Given the description of an element on the screen output the (x, y) to click on. 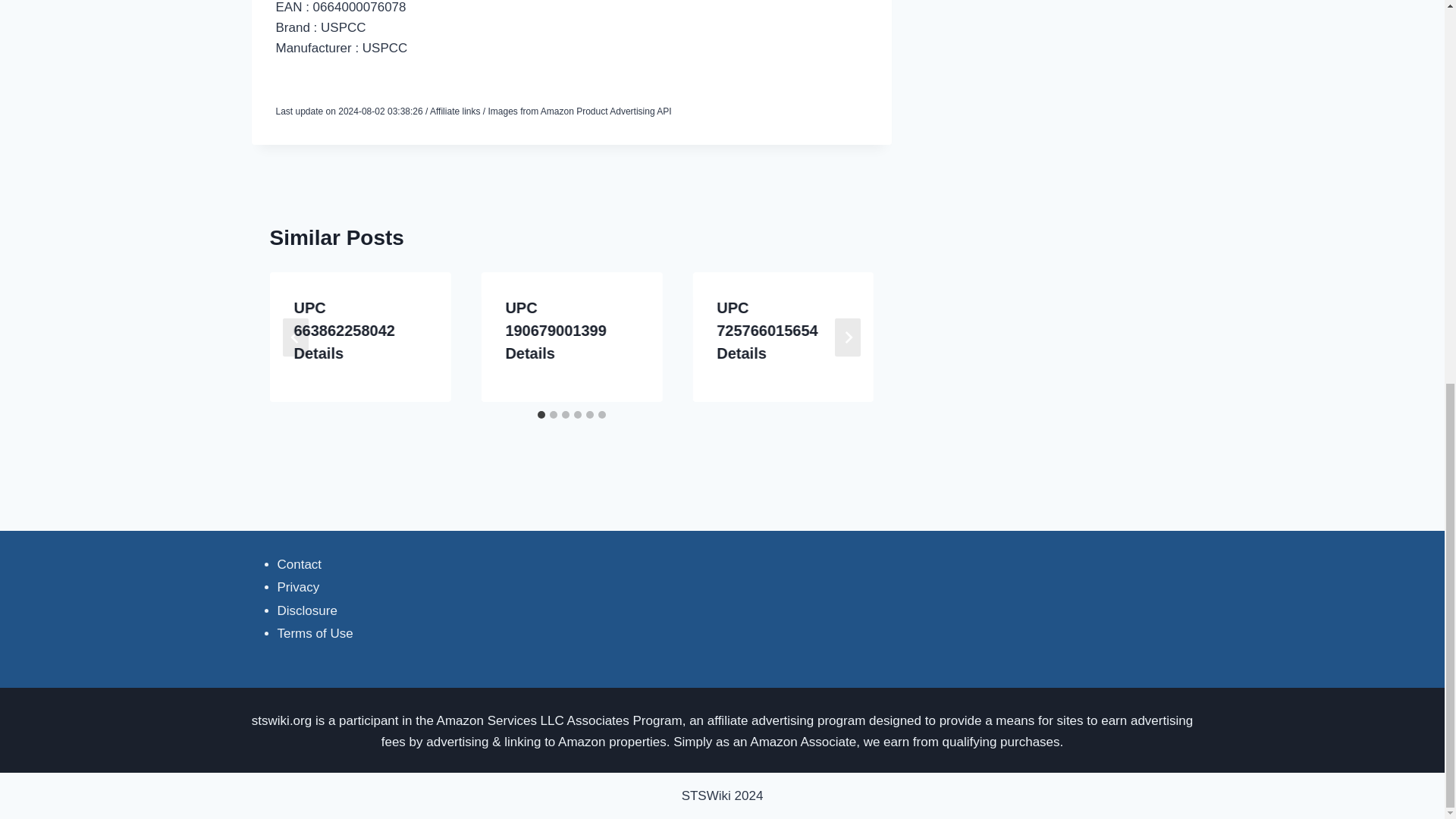
UPC 190679001399 Details (555, 330)
Privacy (299, 586)
Contact (299, 564)
UPC 725766015654 Details (766, 330)
Disclosure (307, 610)
UPC 663862258042 Details (344, 330)
Terms of Use (315, 633)
